Given the description of an element on the screen output the (x, y) to click on. 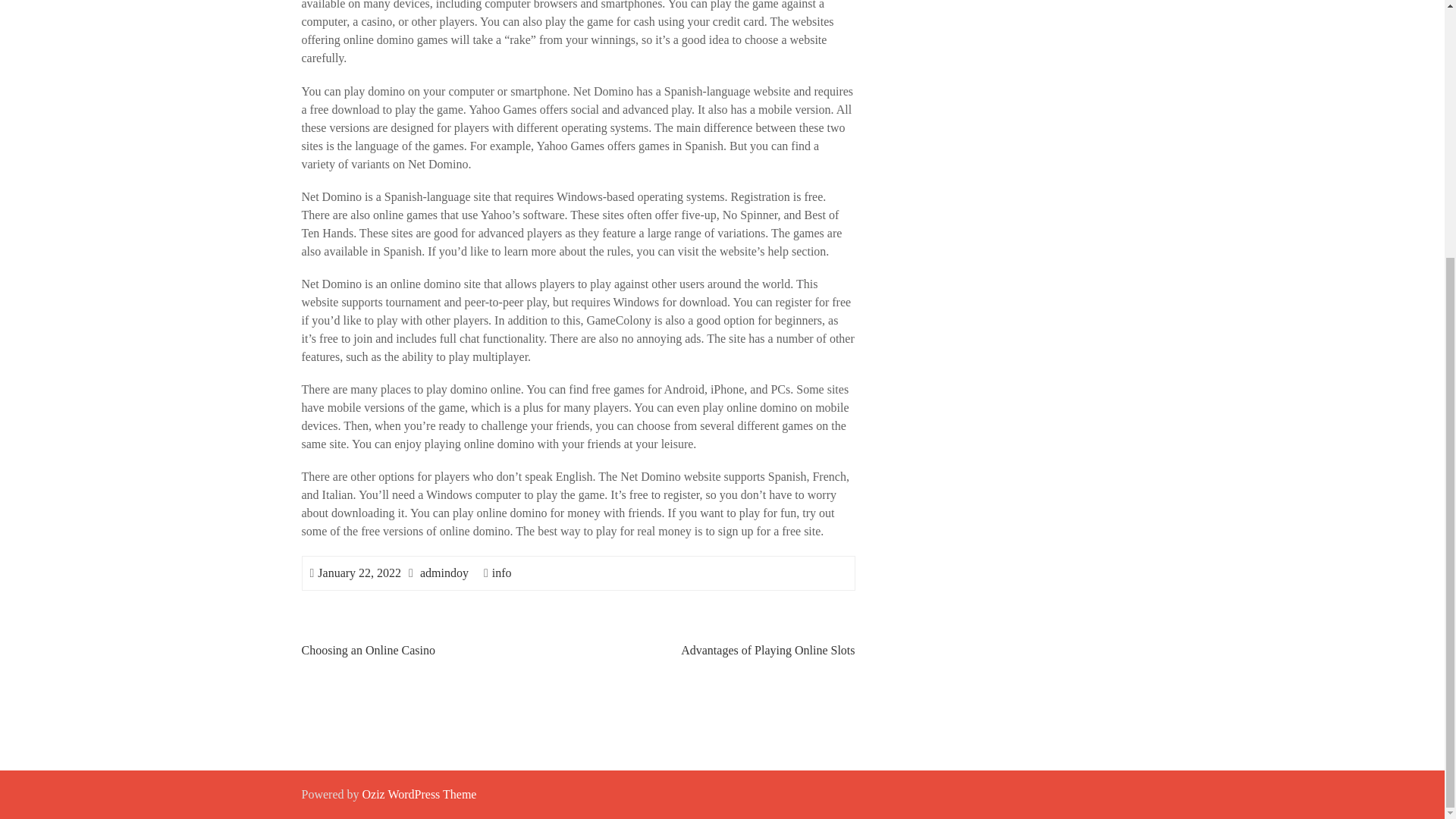
Oziz WordPress Theme (418, 793)
Advantages of Playing Online Slots (767, 649)
admindoy (444, 571)
January 22, 2022 (359, 571)
info (502, 571)
Choosing an Online Casino (368, 649)
